Given the description of an element on the screen output the (x, y) to click on. 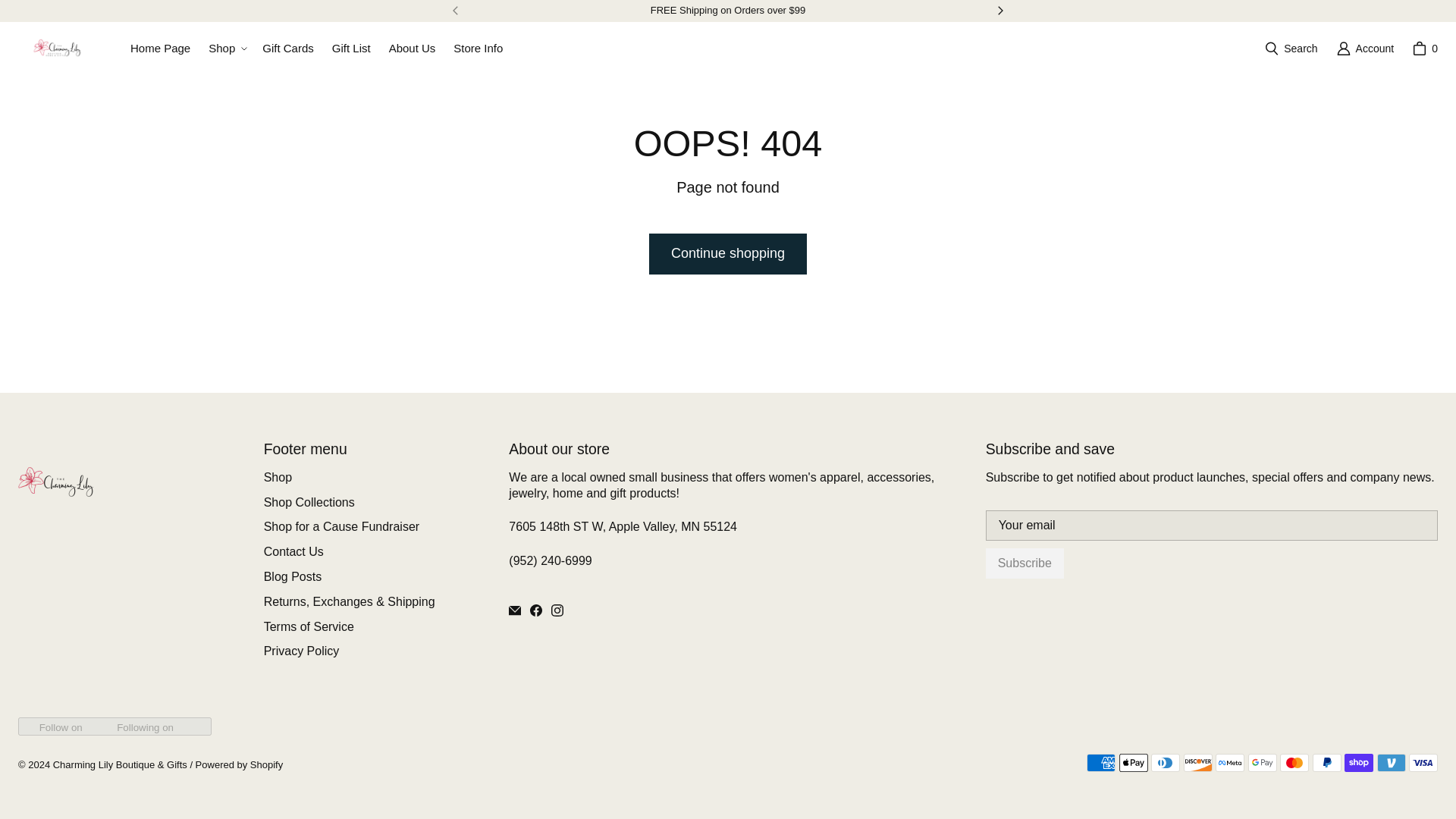
Home Page (159, 48)
PayPal (1326, 762)
American Express (1100, 762)
Diners Club (1165, 762)
Mastercard (1293, 762)
Shop Pay (1358, 762)
Venmo (1391, 762)
Visa (1423, 762)
Discover (1197, 762)
Apple Pay (1133, 762)
